Given the description of an element on the screen output the (x, y) to click on. 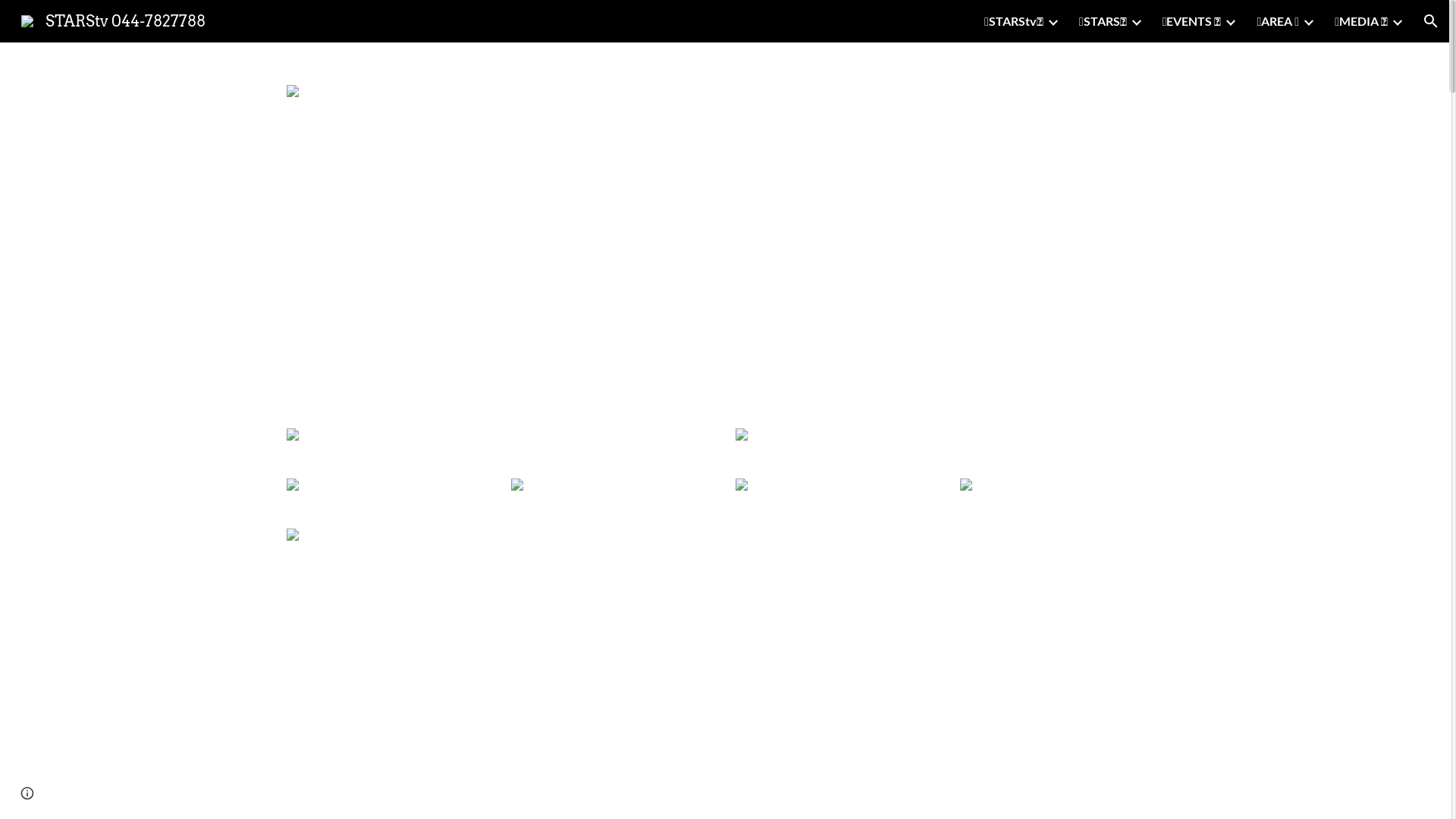
Expand/Collapse Element type: hover (1396, 20)
Website - FoundationMusicPro Element type: text (933, 376)
STARStv 044-7827788 Element type: text (113, 19)
Expand/Collapse Element type: hover (1229, 20)
Expand/Collapse Element type: hover (1135, 20)
Expand/Collapse Element type: hover (1052, 20)
Expand/Collapse Element type: hover (1307, 20)
